Given the description of an element on the screen output the (x, y) to click on. 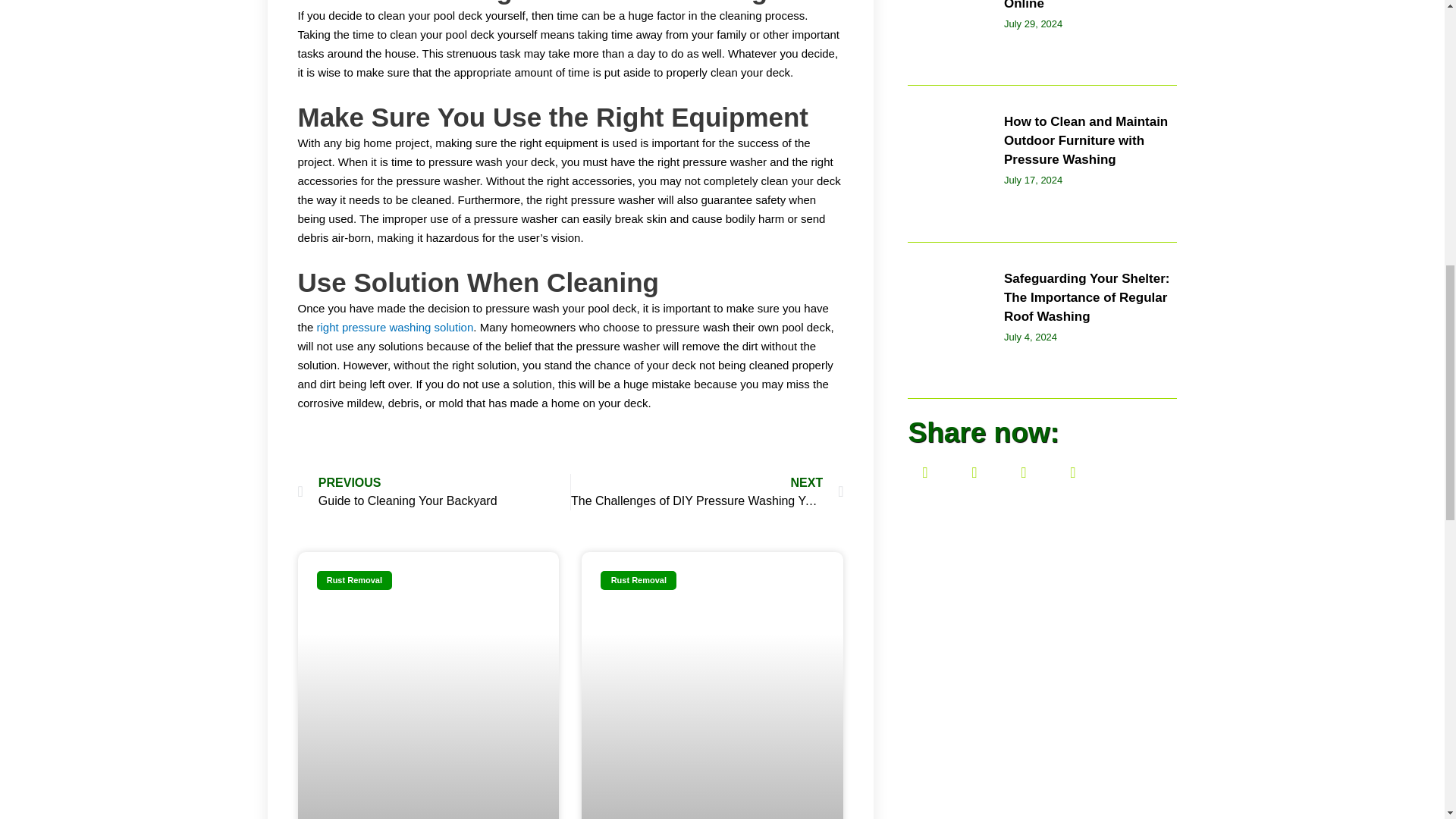
right pressure washing solution (395, 327)
How to Find Reliable Pressure Washing Services Online (706, 492)
